Given the description of an element on the screen output the (x, y) to click on. 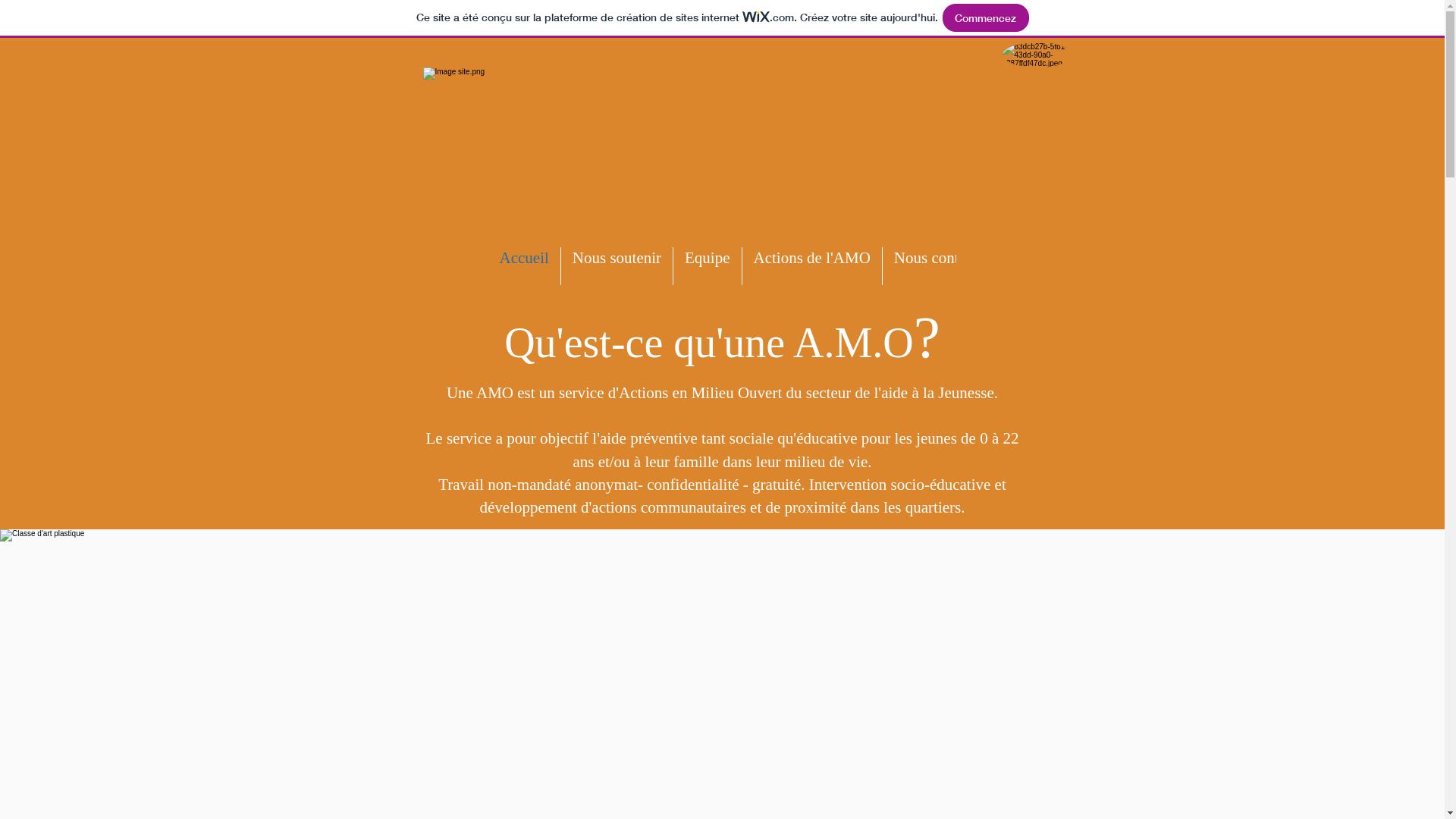
Equipe Element type: text (706, 266)
Actions de l'AMO Element type: text (811, 266)
Accueil Element type: text (524, 266)
Nous contacter Element type: text (941, 266)
Nous soutenir Element type: text (616, 266)
